Given the description of an element on the screen output the (x, y) to click on. 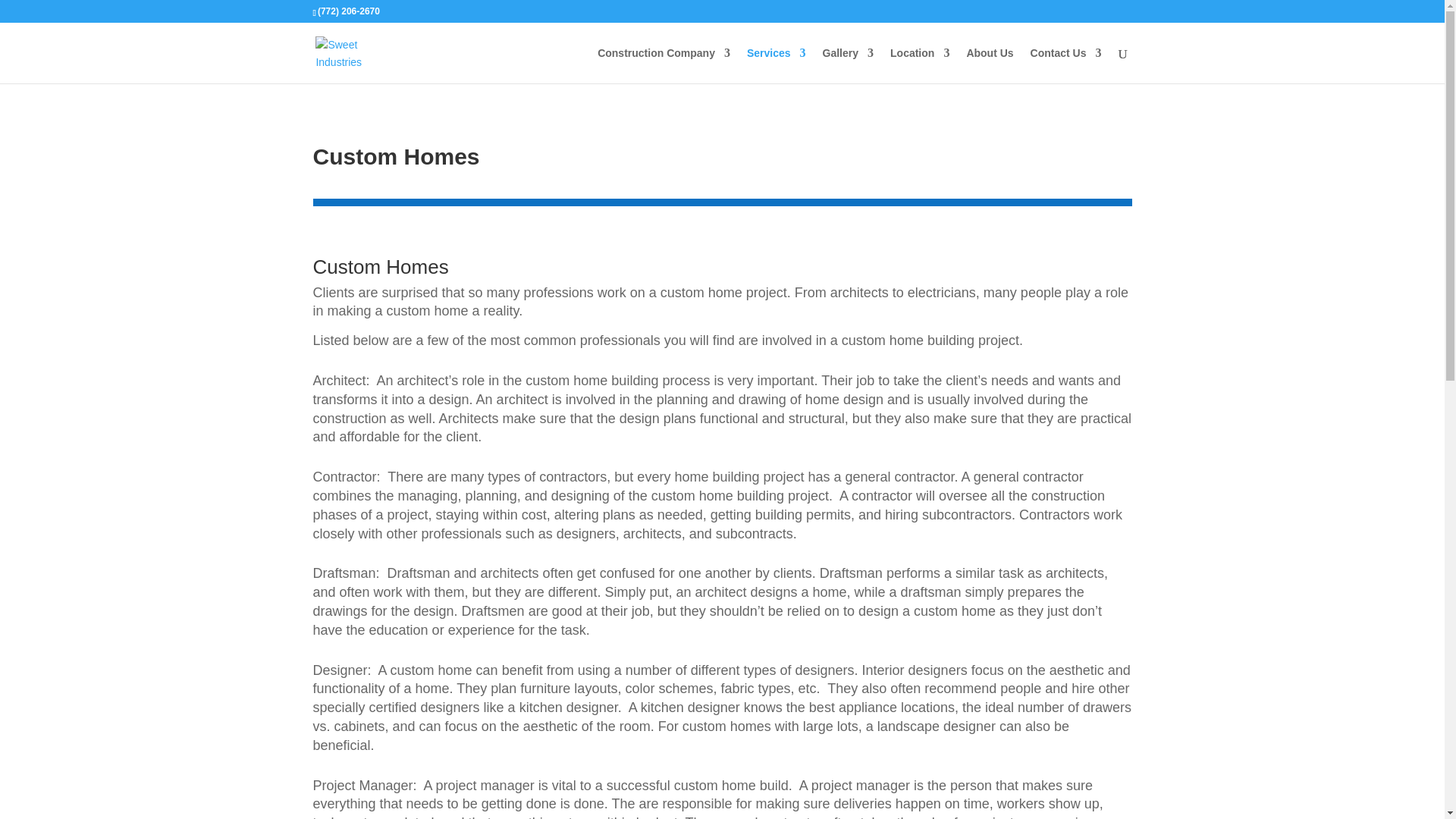
Contact Us (1066, 65)
Gallery (847, 65)
Location (919, 65)
Services (776, 65)
About Us (989, 65)
Construction Company (663, 65)
